Given the description of an element on the screen output the (x, y) to click on. 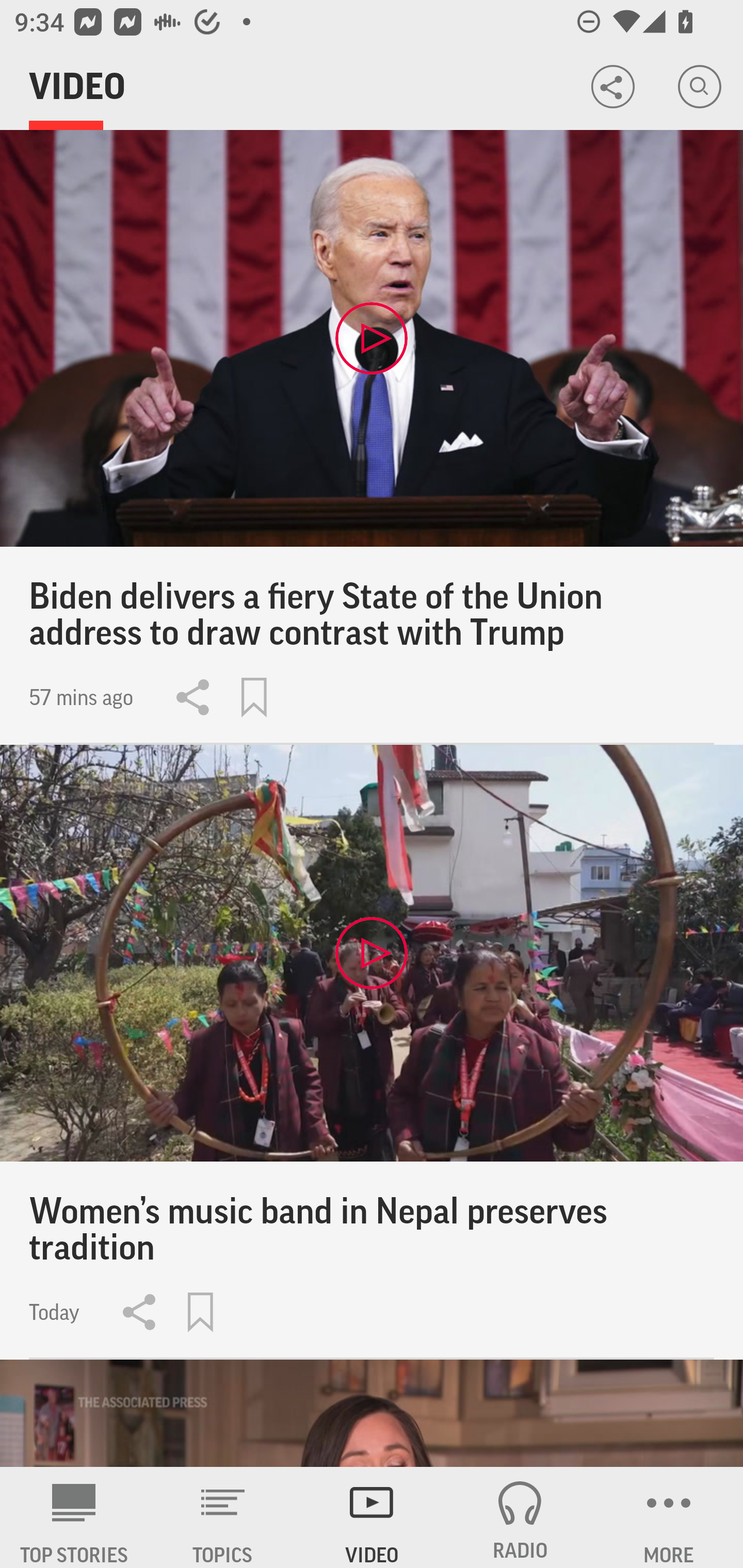
AP News TOP STORIES (74, 1517)
TOPICS (222, 1517)
VIDEO (371, 1517)
RADIO (519, 1517)
MORE (668, 1517)
